Given the description of an element on the screen output the (x, y) to click on. 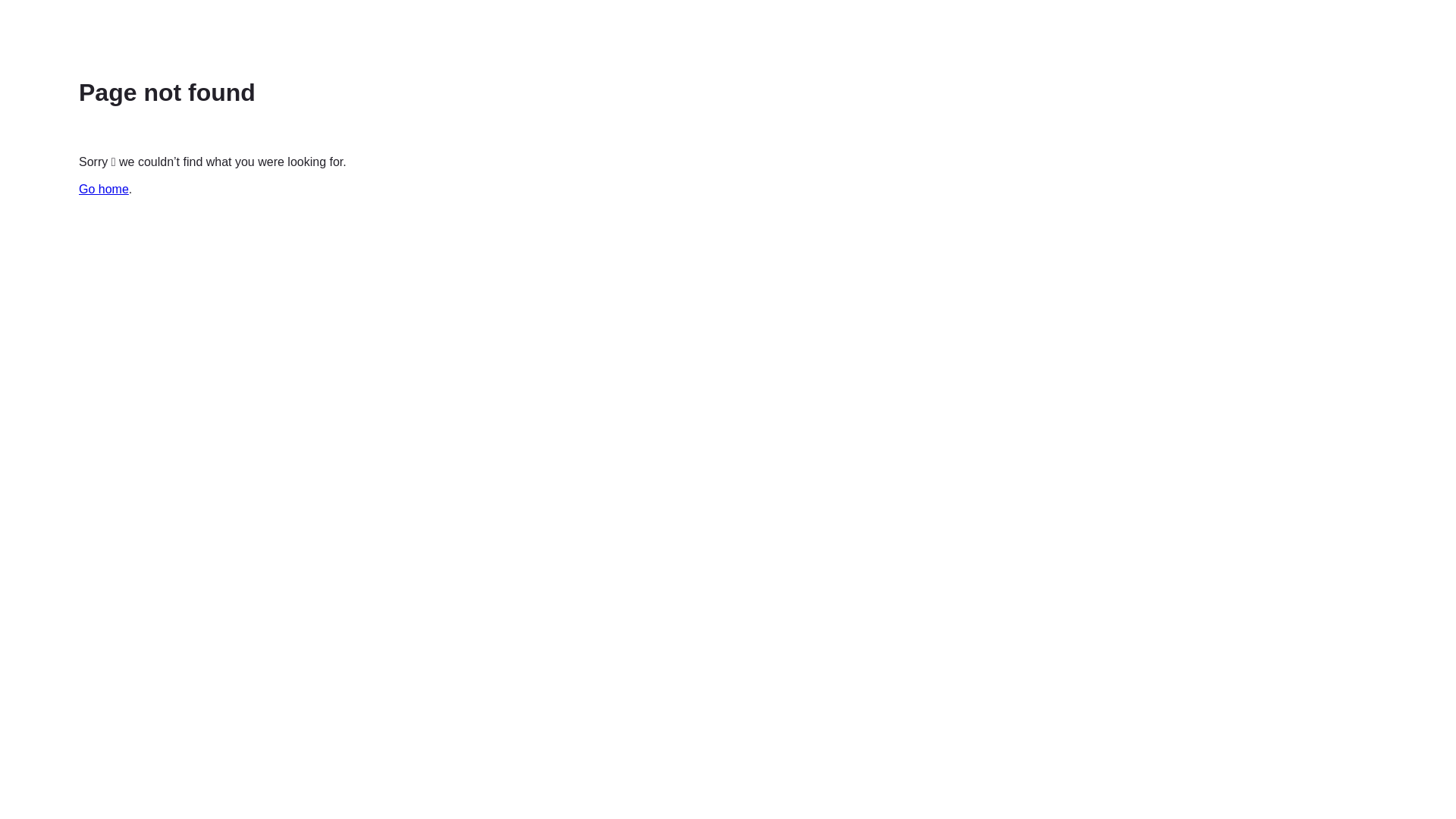
Go home Element type: text (103, 188)
